Given the description of an element on the screen output the (x, y) to click on. 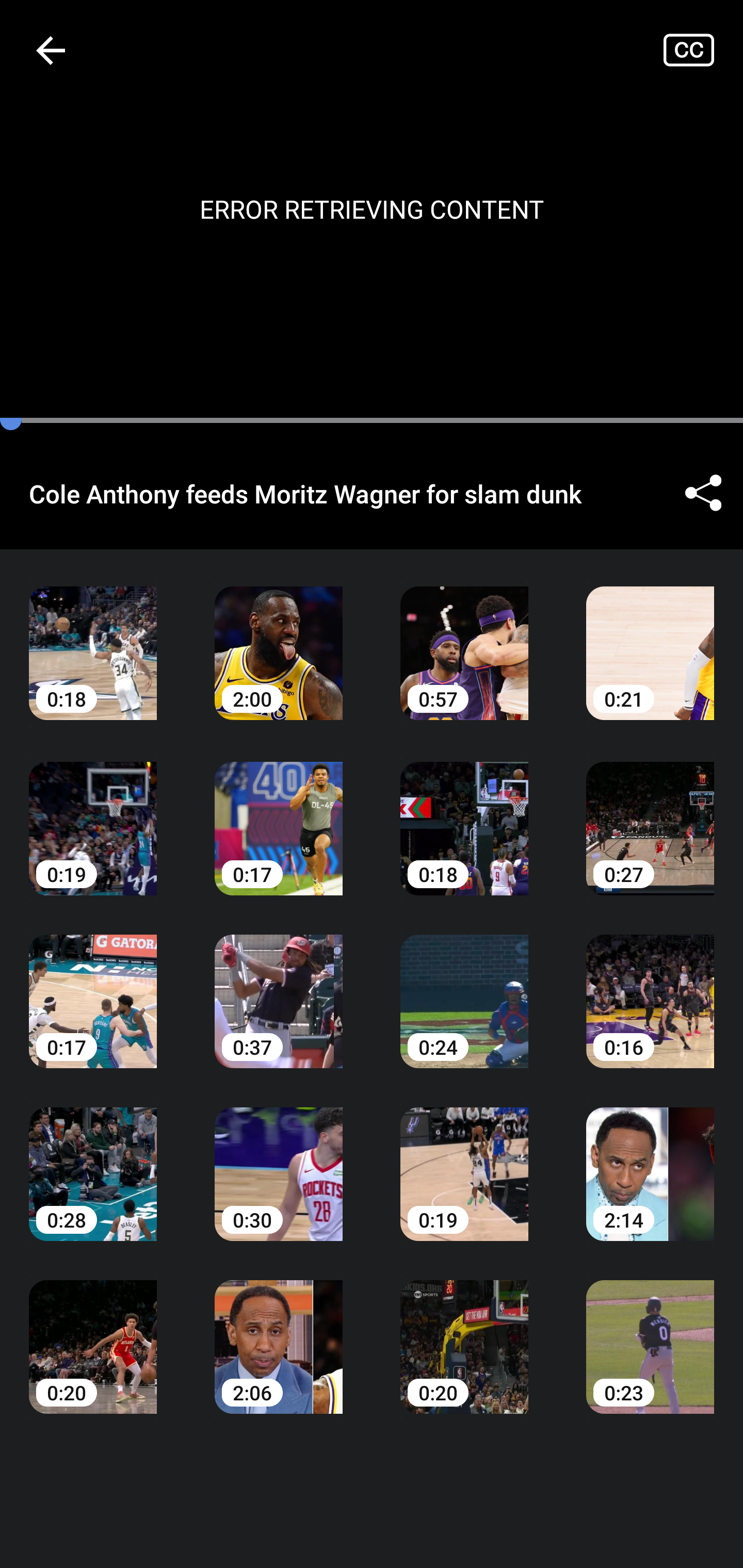
Navigate up (50, 50)
Closed captions  (703, 49)
Share © (703, 493)
0:18 (92, 637)
2:00 (278, 637)
0:57 (464, 637)
0:21 (650, 637)
0:19 (92, 813)
0:17 (278, 813)
0:18 (464, 813)
0:27 (650, 813)
0:17 (92, 987)
0:37 (278, 987)
0:24 (464, 987)
0:16 (650, 987)
0:28 (92, 1160)
0:30 (278, 1160)
0:19 (464, 1160)
2:14 (650, 1160)
0:20 (92, 1332)
2:06 (278, 1332)
0:20 (464, 1332)
0:23 (650, 1332)
